Given the description of an element on the screen output the (x, y) to click on. 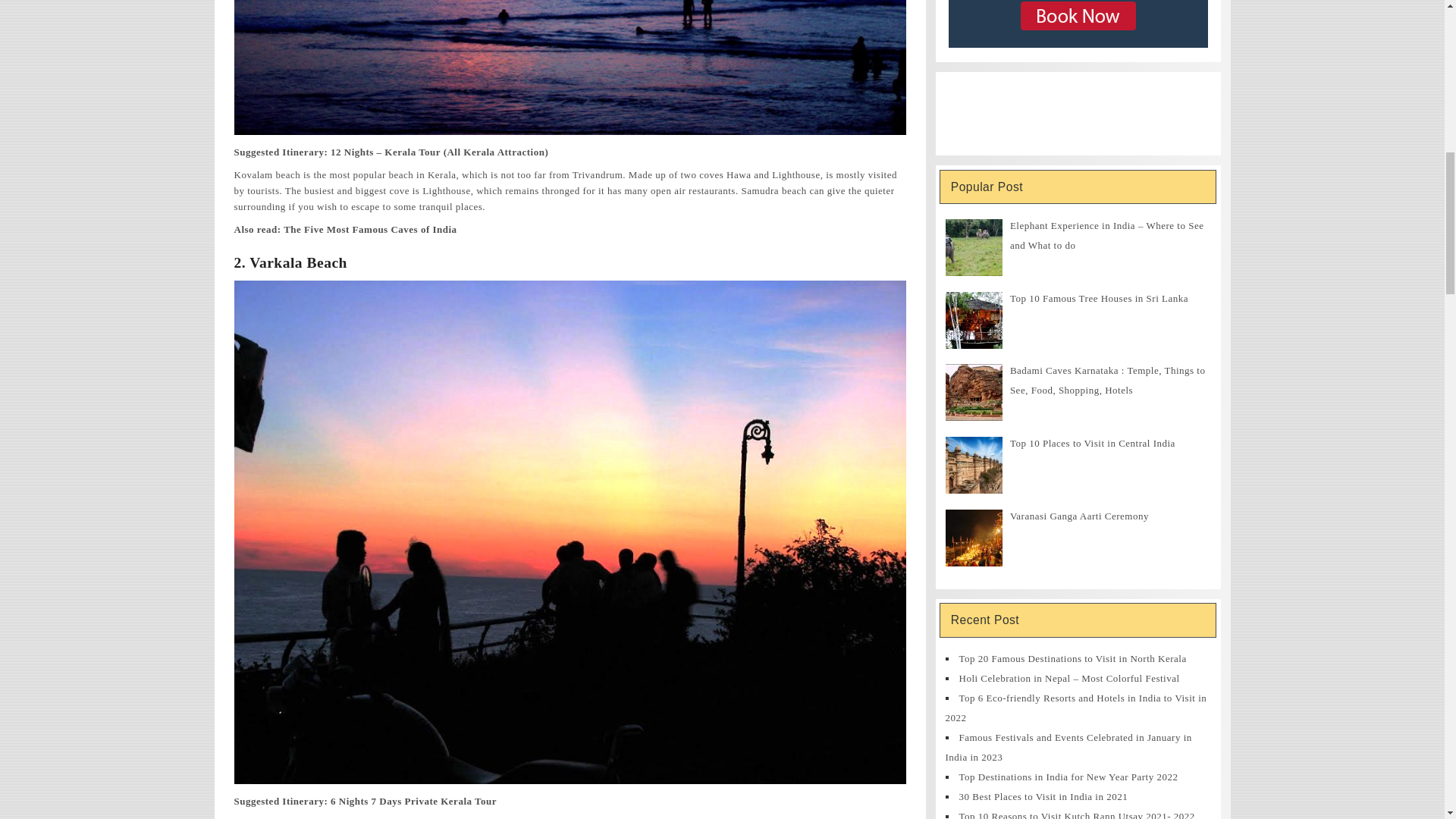
Varanasi Ganga Aarti Ceremony (1079, 515)
The Five Most Famous Caves of India (370, 229)
Top 10 Famous Tree Houses in Sri Lanka (1099, 297)
Top 10 Places to Visit in Central India (1092, 442)
6 Nights 7 Days Private Kerala Tour (413, 800)
